Given the description of an element on the screen output the (x, y) to click on. 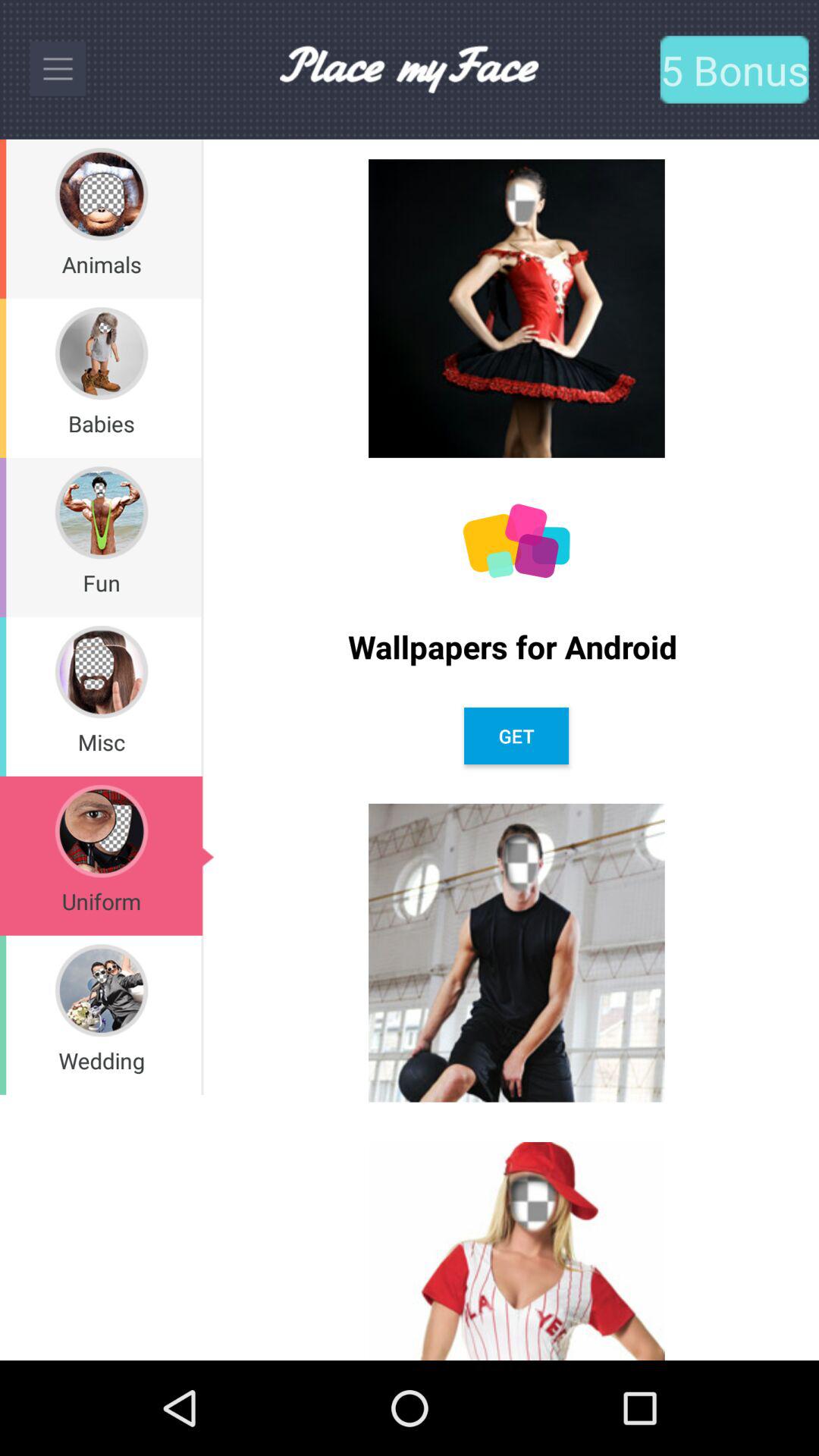
scroll to wedding app (101, 1060)
